Given the description of an element on the screen output the (x, y) to click on. 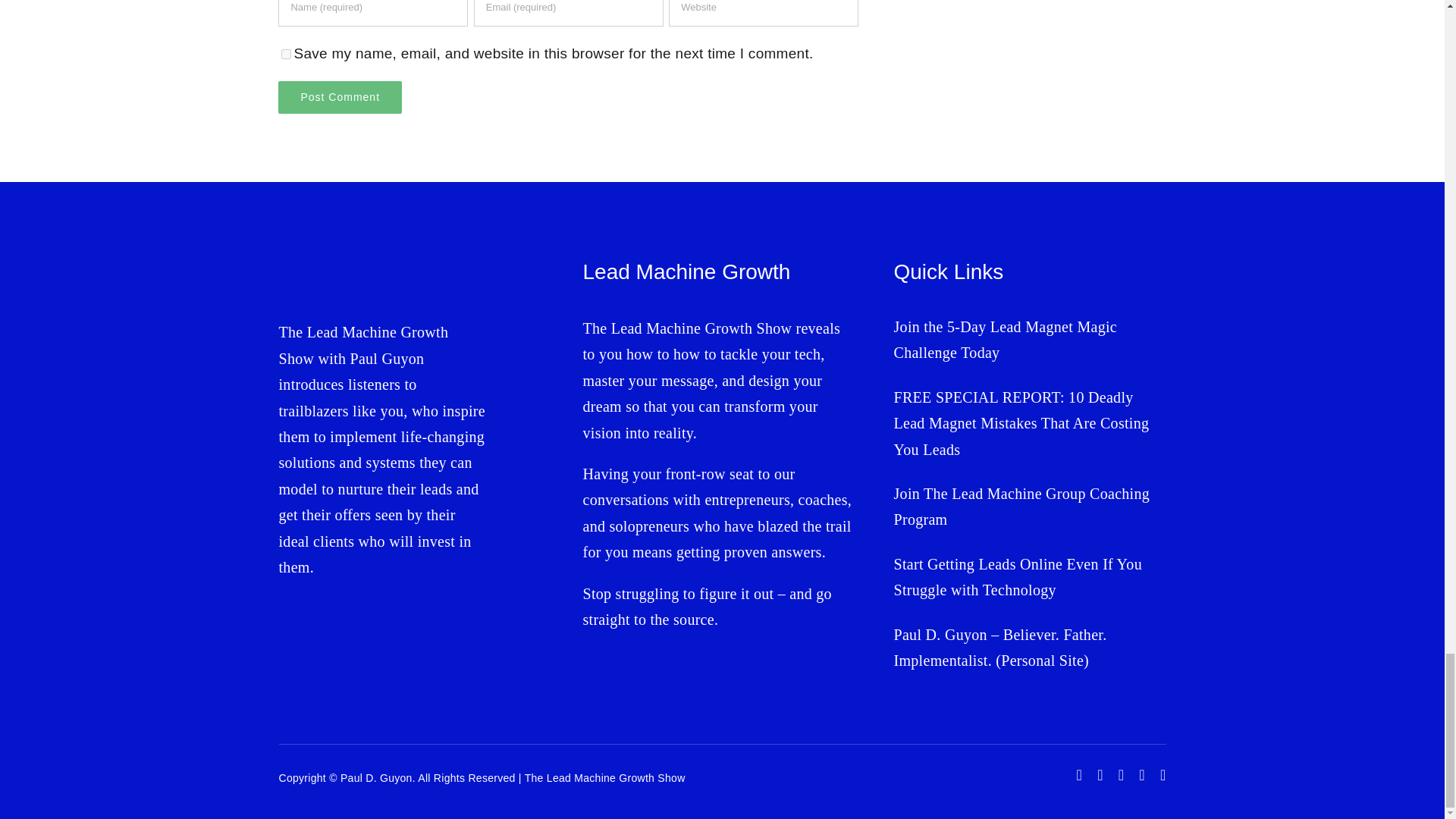
YouTube (1100, 774)
Post Comment (339, 97)
Facebook (1080, 774)
LinkedIn (1141, 774)
TheLeadMachineGrowthShow-TransparentWebWhite1500 (369, 272)
yes (286, 53)
Rss (1121, 774)
Spotify (1163, 774)
